Given the description of an element on the screen output the (x, y) to click on. 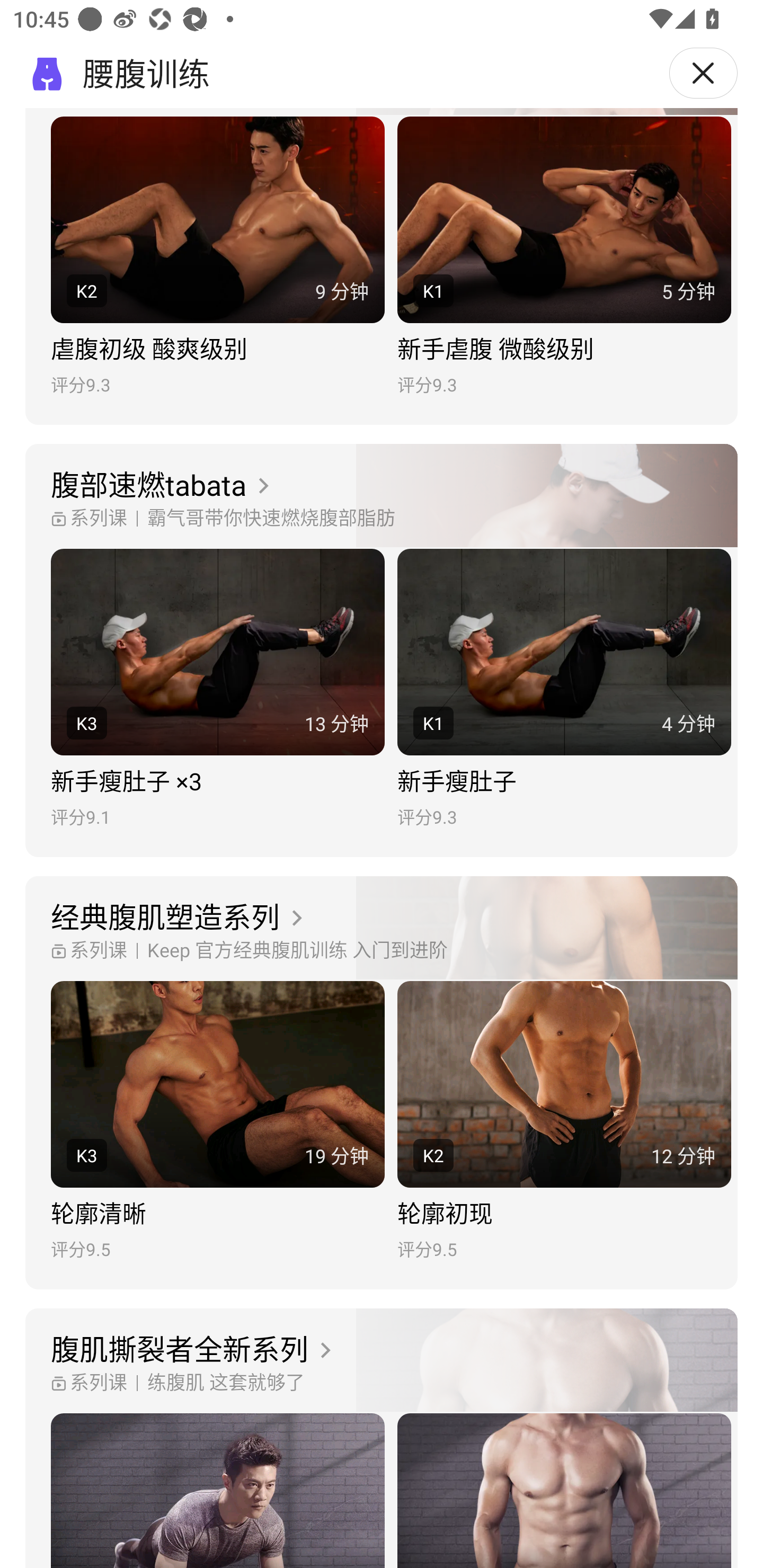
K2 9 分钟 虐腹初级 酸爽级别 评分9.3 (217, 256)
K1 5 分钟 新手虐腹 微酸级别 评分9.3 (563, 256)
腹部速燃tabata 系列课 霸气哥带你快速燃烧腹部脂肪 (381, 495)
K3 13 分钟 新手瘦肚子 ×3 评分9.1 (217, 687)
K1 4 分钟 新手瘦肚子 评分9.3 (563, 687)
经典腹肌塑造系列 系列课 Keep 官方经典腹肌训练 入门到进阶 (381, 928)
K3 19 分钟 轮廓清晰 评分9.5 (217, 1120)
K2 12 分钟 轮廓初现 评分9.5 (563, 1120)
腹肌撕裂者全新系列 系列课 练腹肌 这套就够了 (381, 1359)
